Given the description of an element on the screen output the (x, y) to click on. 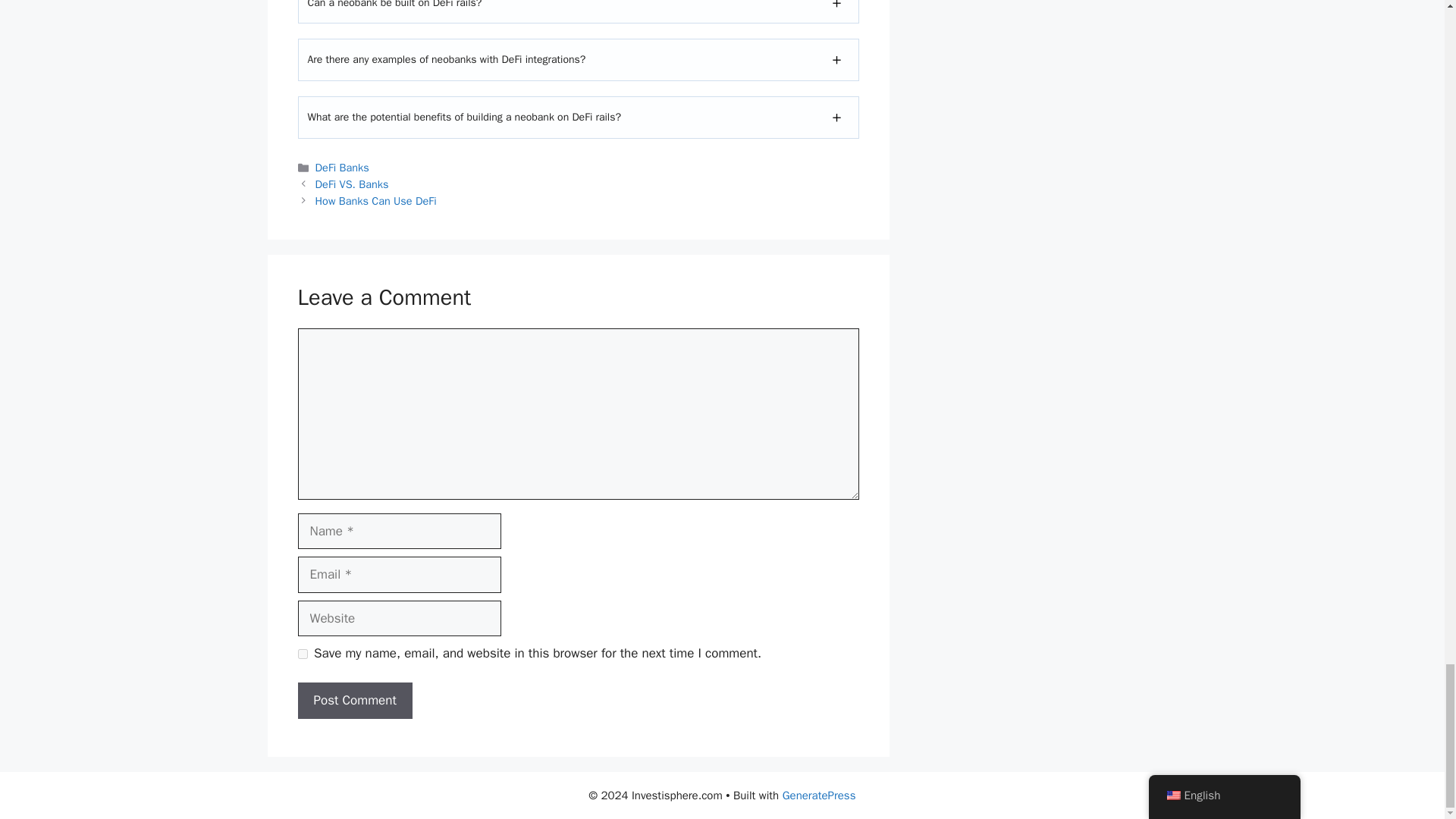
Are there any examples of neobanks with DeFi integrations? (446, 59)
Post Comment (354, 700)
yes (302, 654)
Can a neobank be built on DeFi rails? (394, 5)
